Given the description of an element on the screen output the (x, y) to click on. 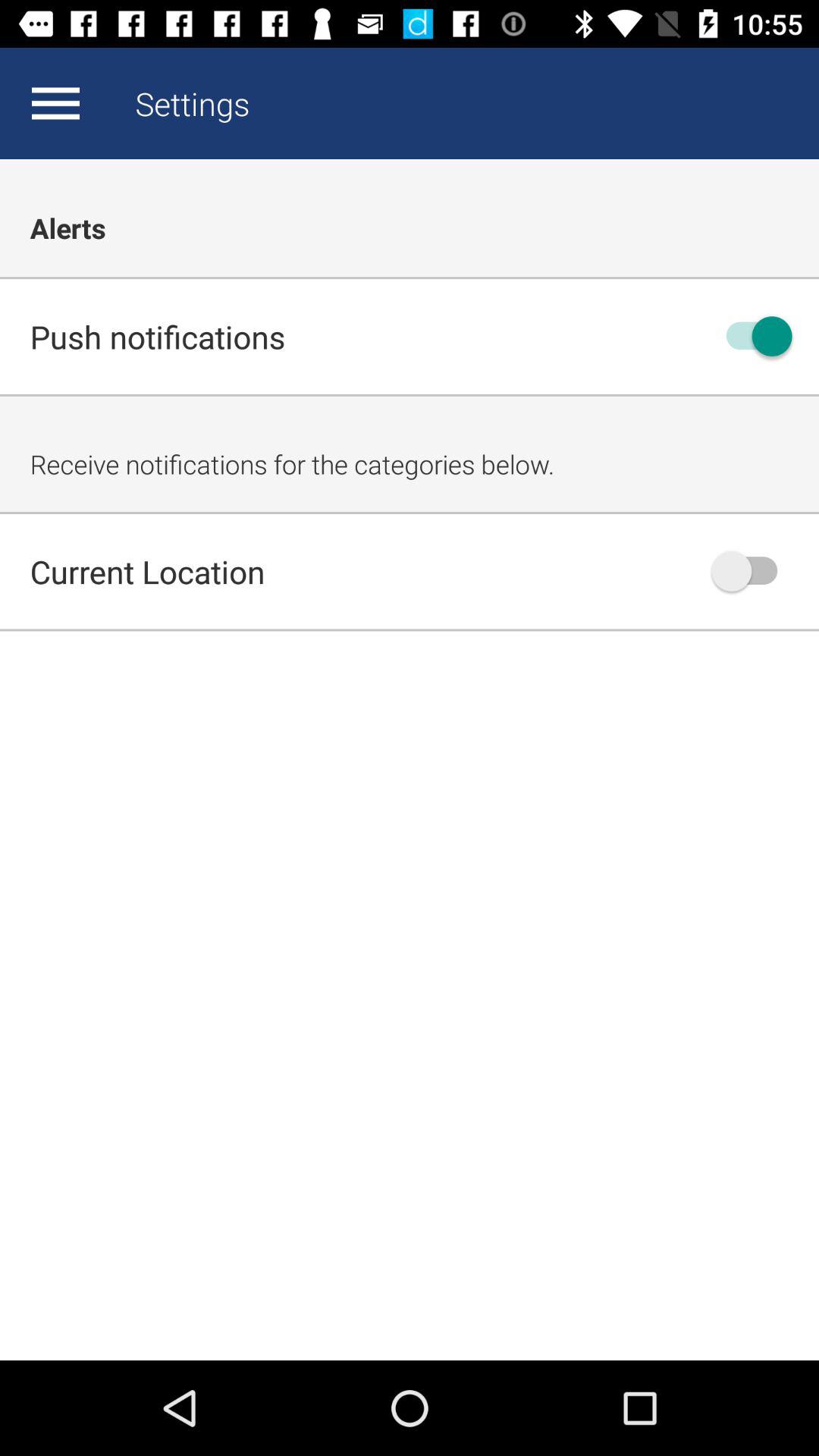
go to menu (55, 103)
